Given the description of an element on the screen output the (x, y) to click on. 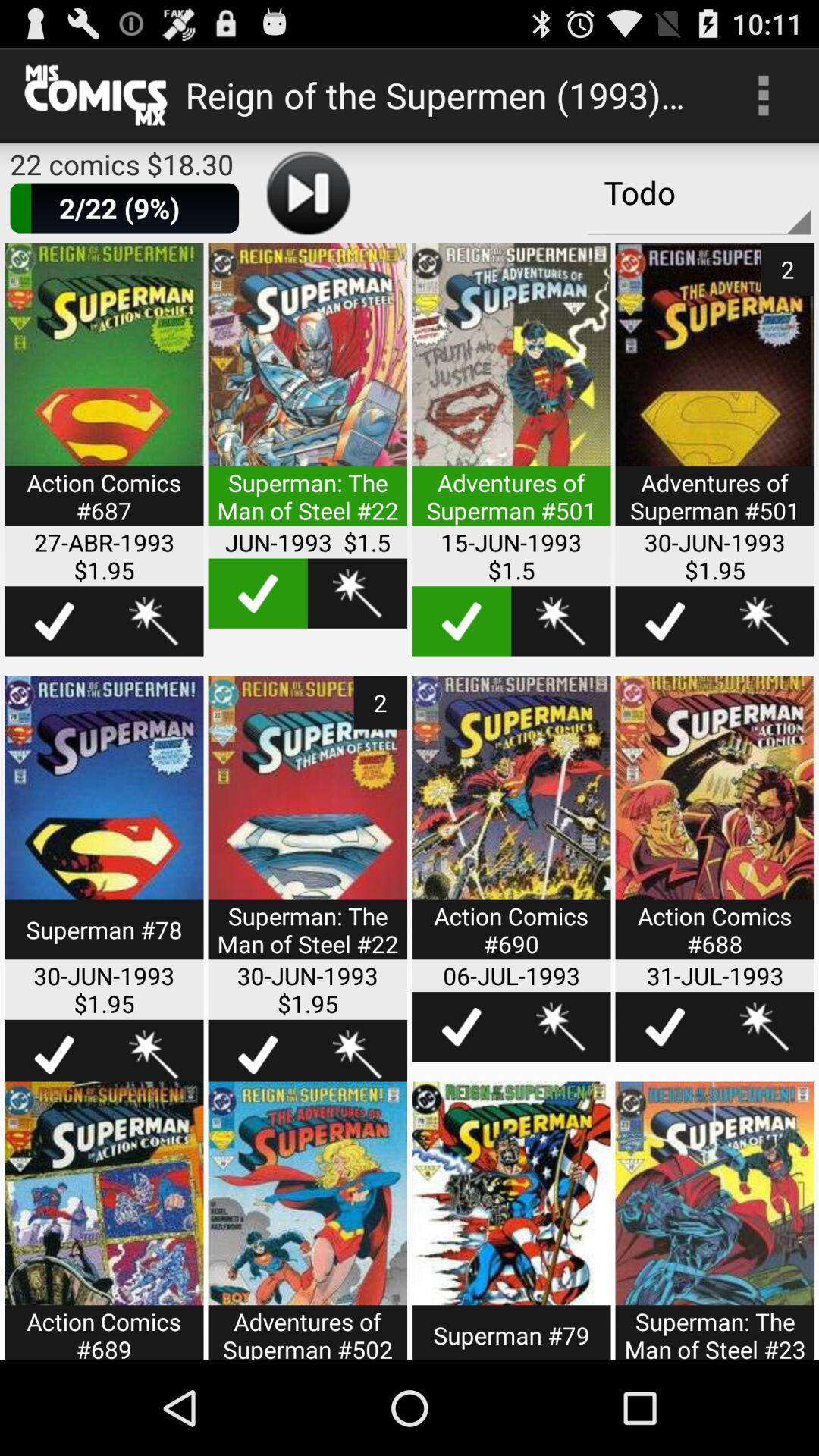
favorite (357, 593)
